Given the description of an element on the screen output the (x, y) to click on. 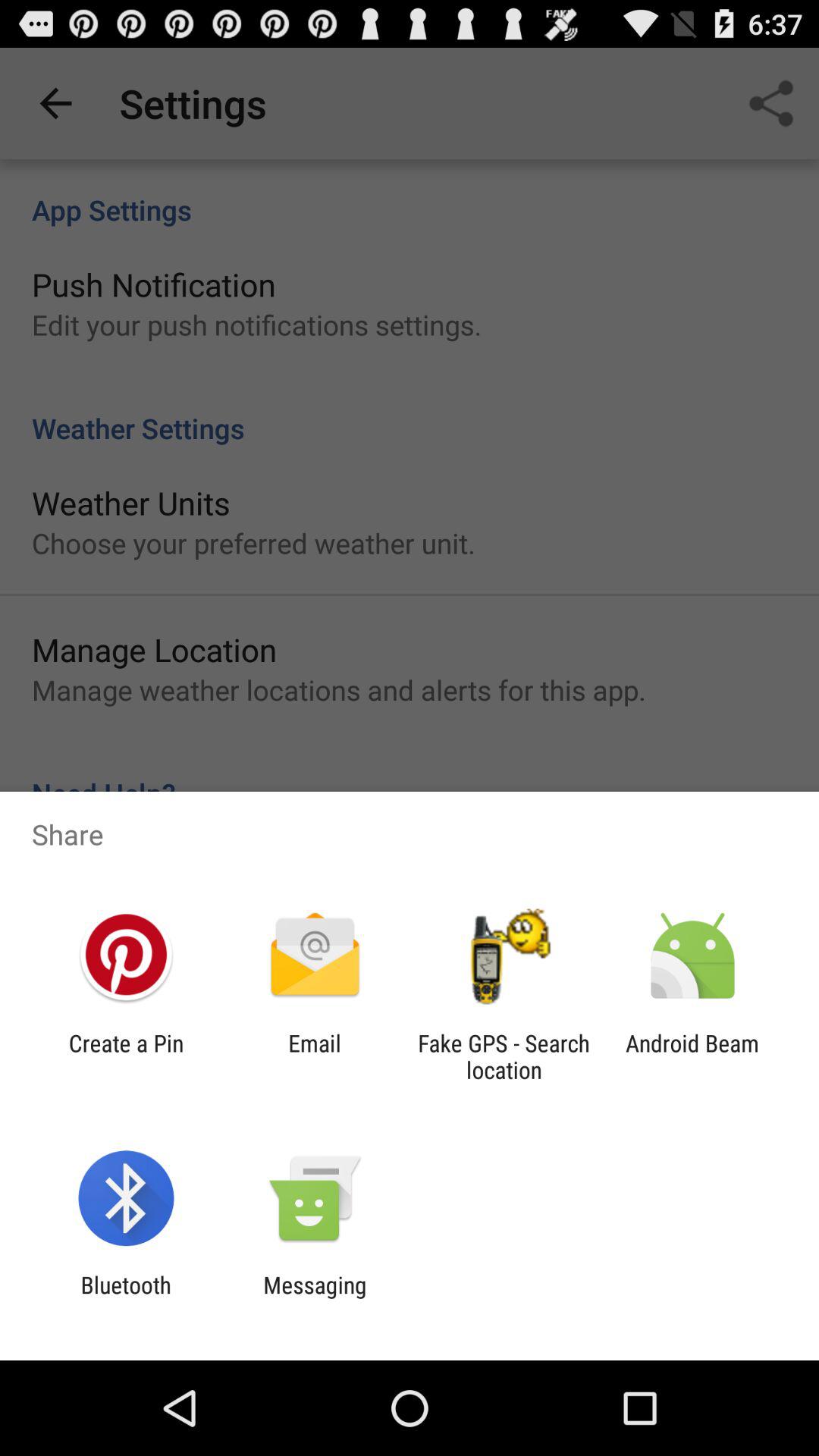
open the icon at the bottom right corner (692, 1056)
